Given the description of an element on the screen output the (x, y) to click on. 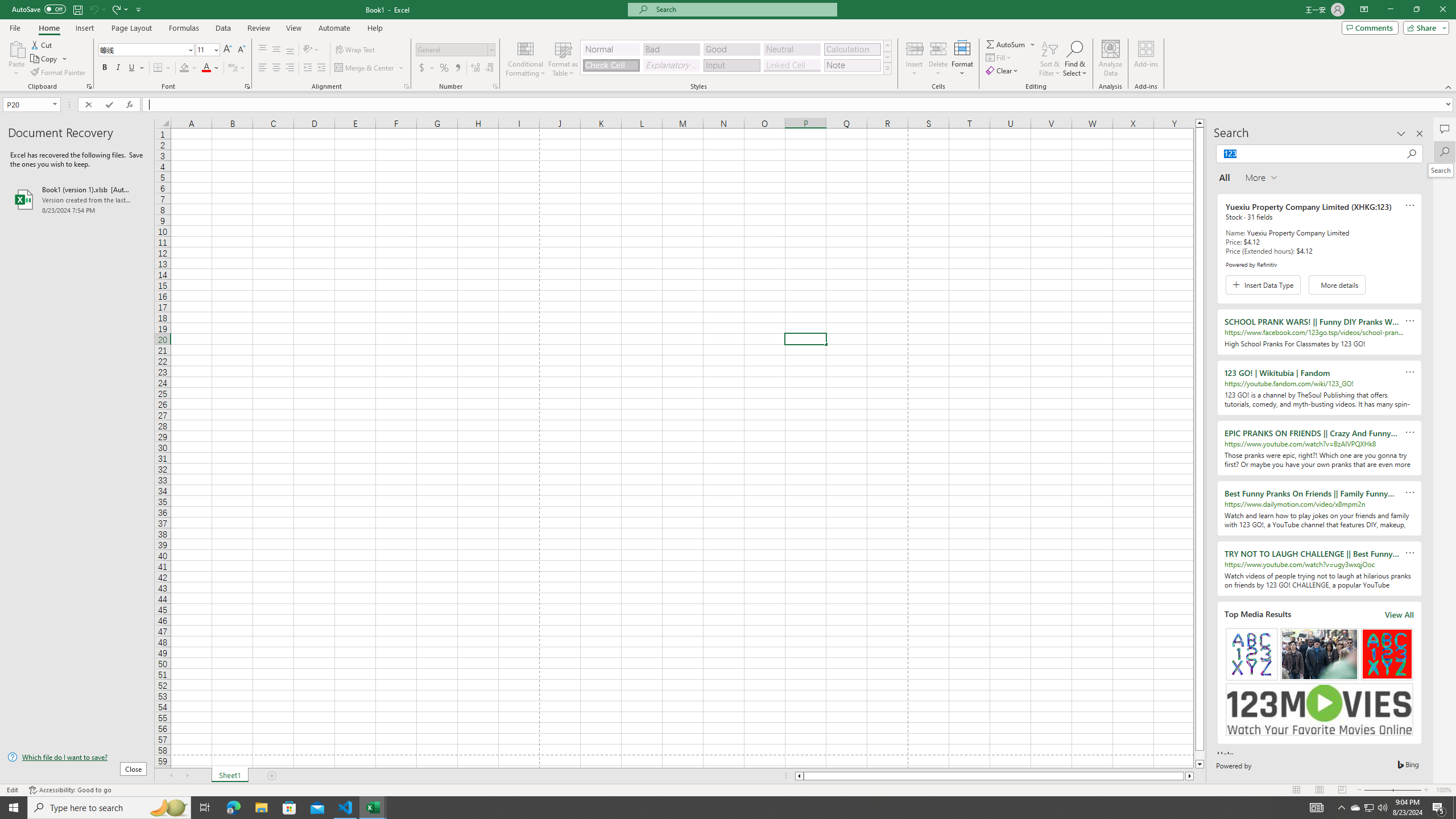
Decrease Indent (307, 67)
Paste (16, 48)
Fill Color RGB(255, 255, 0) (183, 67)
Top Align (262, 49)
Cut (42, 44)
Merge & Center (365, 67)
